Given the description of an element on the screen output the (x, y) to click on. 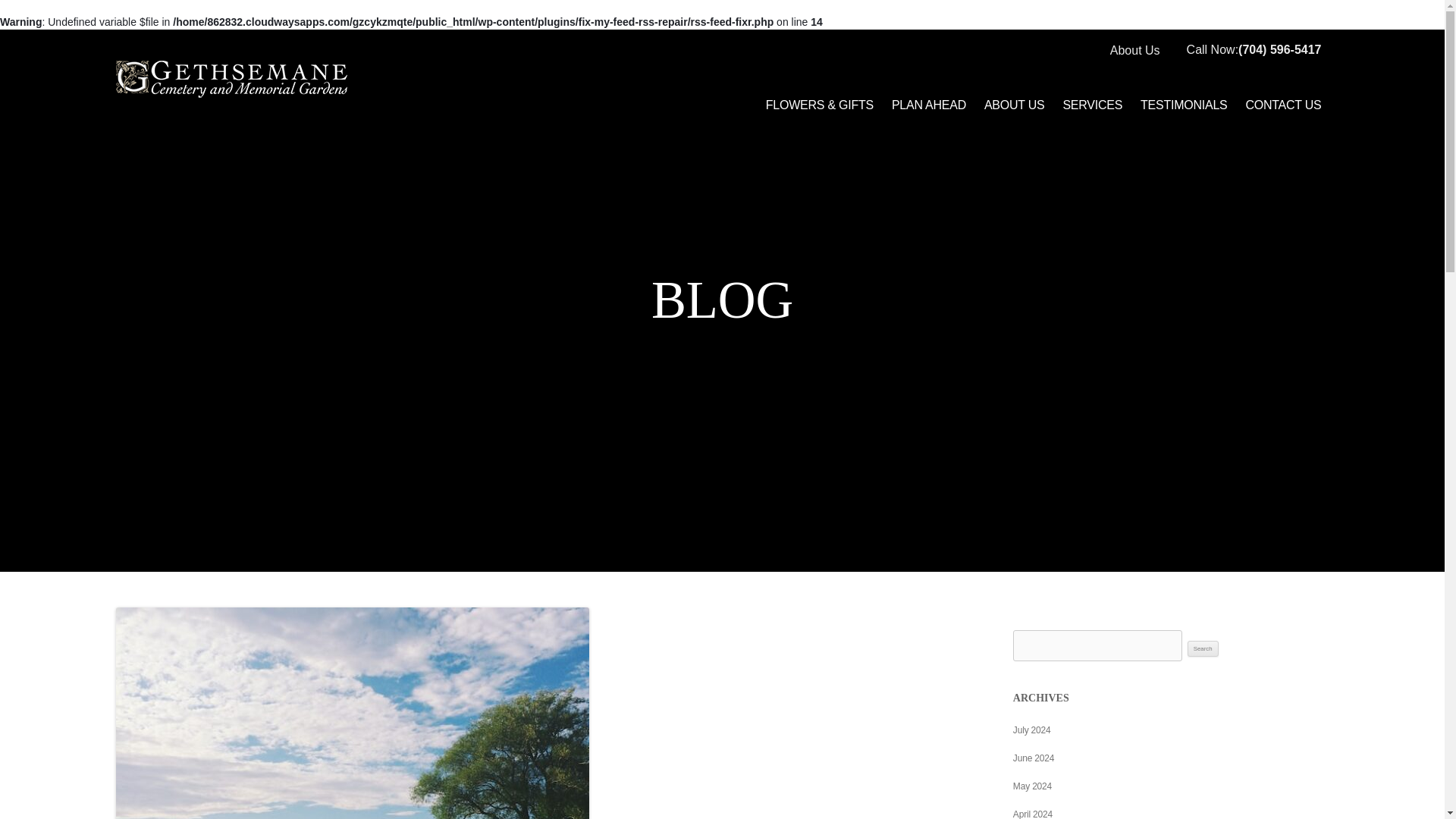
SERVICES (1091, 104)
PLAN AHEAD (928, 104)
TESTIMONIALS (1183, 104)
About Us (1134, 50)
July 2024 (1032, 729)
Search (1203, 648)
April 2024 (1032, 814)
Search (1203, 648)
June 2024 (1033, 757)
CONTACT US (1282, 104)
May 2024 (1032, 786)
ABOUT US (1014, 104)
